Given the description of an element on the screen output the (x, y) to click on. 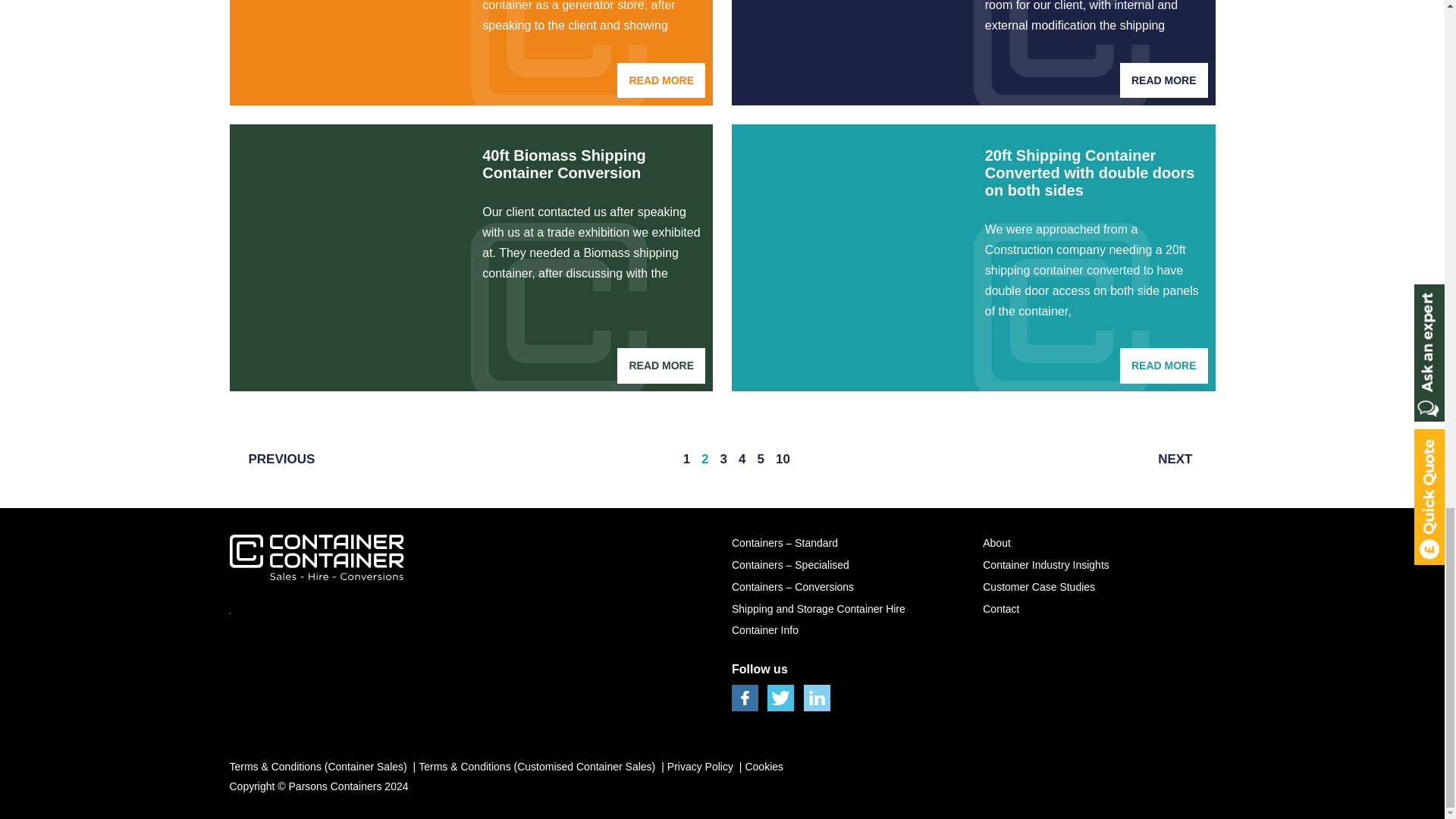
Page 5 (761, 459)
Page 4 (742, 459)
Page 1 (686, 459)
Page 10 (782, 459)
Page 3 (723, 459)
